Given the description of an element on the screen output the (x, y) to click on. 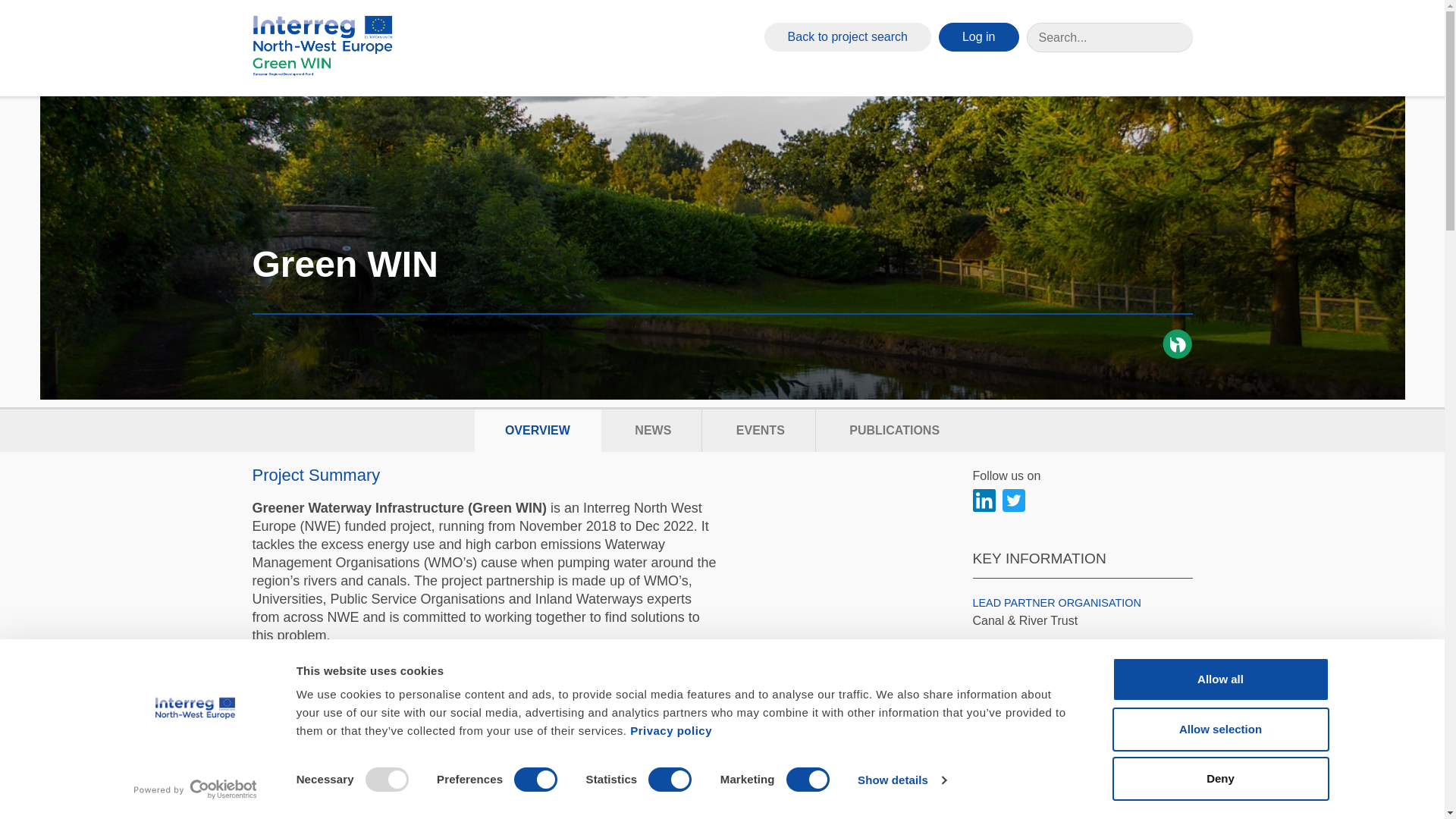
Privacy policy (670, 730)
Show details (900, 780)
